Given the description of an element on the screen output the (x, y) to click on. 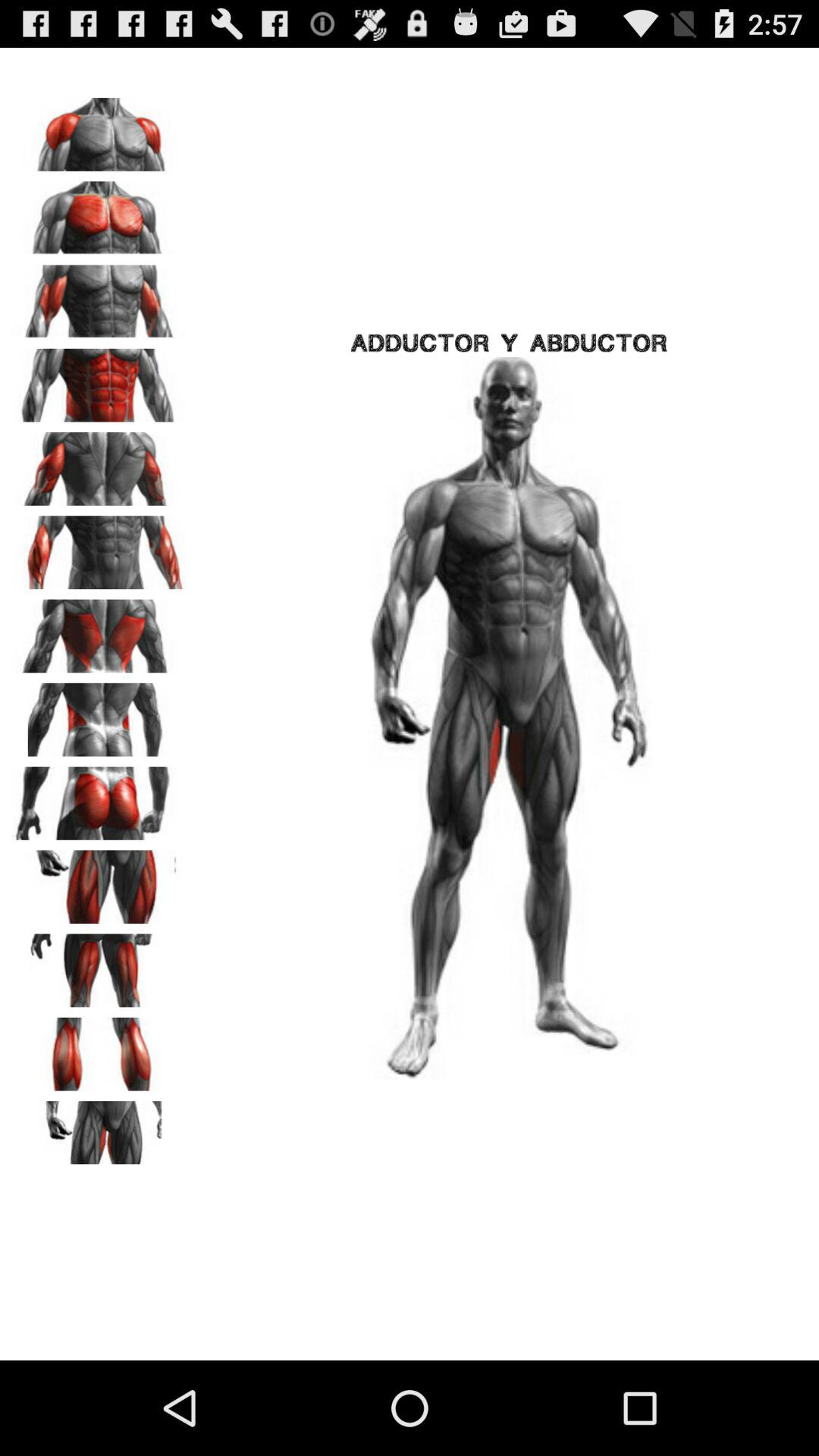
click the icon to the left of the adductor y abductor (99, 380)
